Given the description of an element on the screen output the (x, y) to click on. 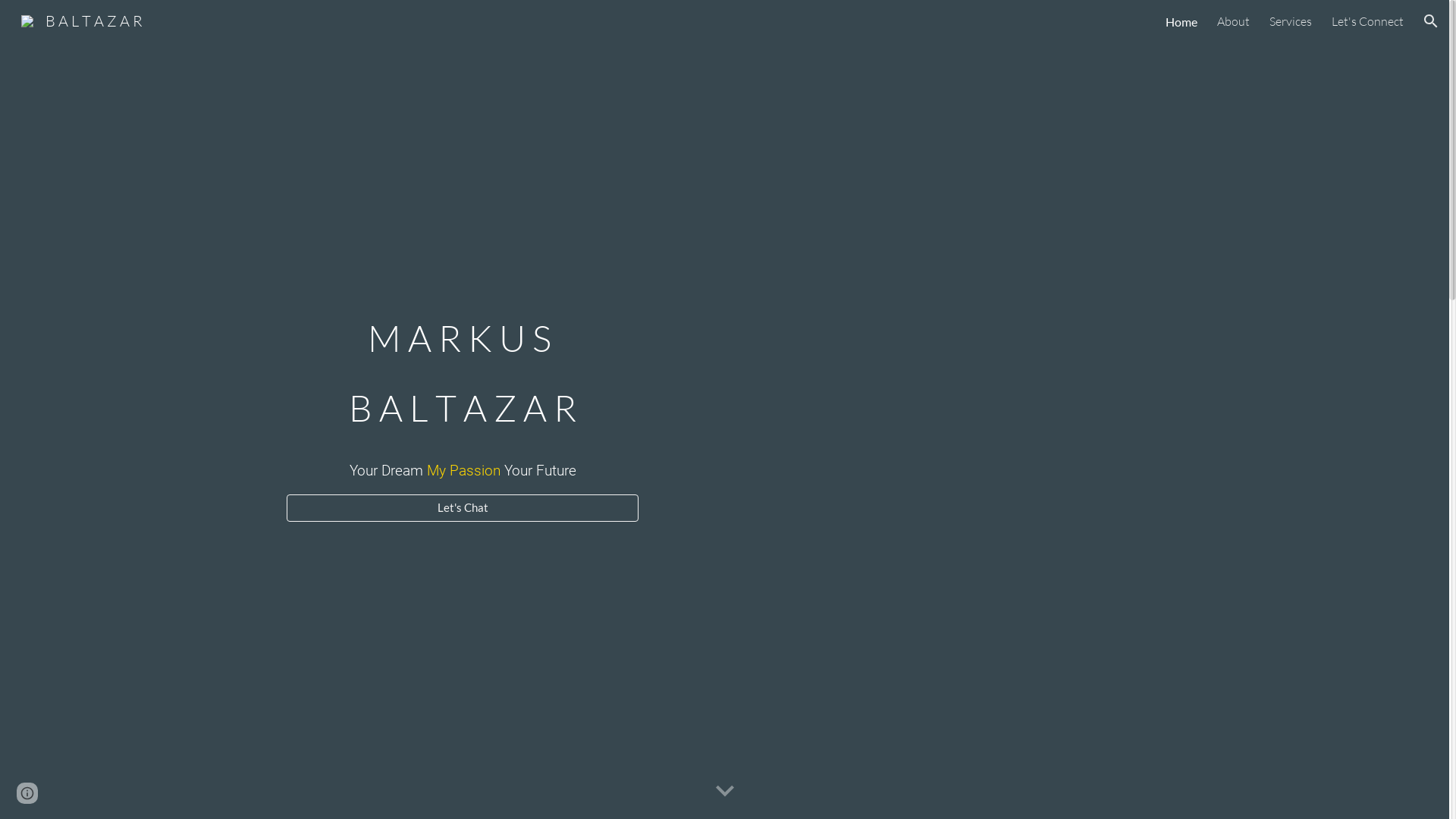
Services Element type: text (1290, 20)
Let's Chat Element type: text (462, 506)
Home Element type: text (1181, 20)
About Element type: text (1233, 20)
B A L T A Z A R Element type: text (81, 18)
Let's Connect Element type: text (1367, 20)
